Given the description of an element on the screen output the (x, y) to click on. 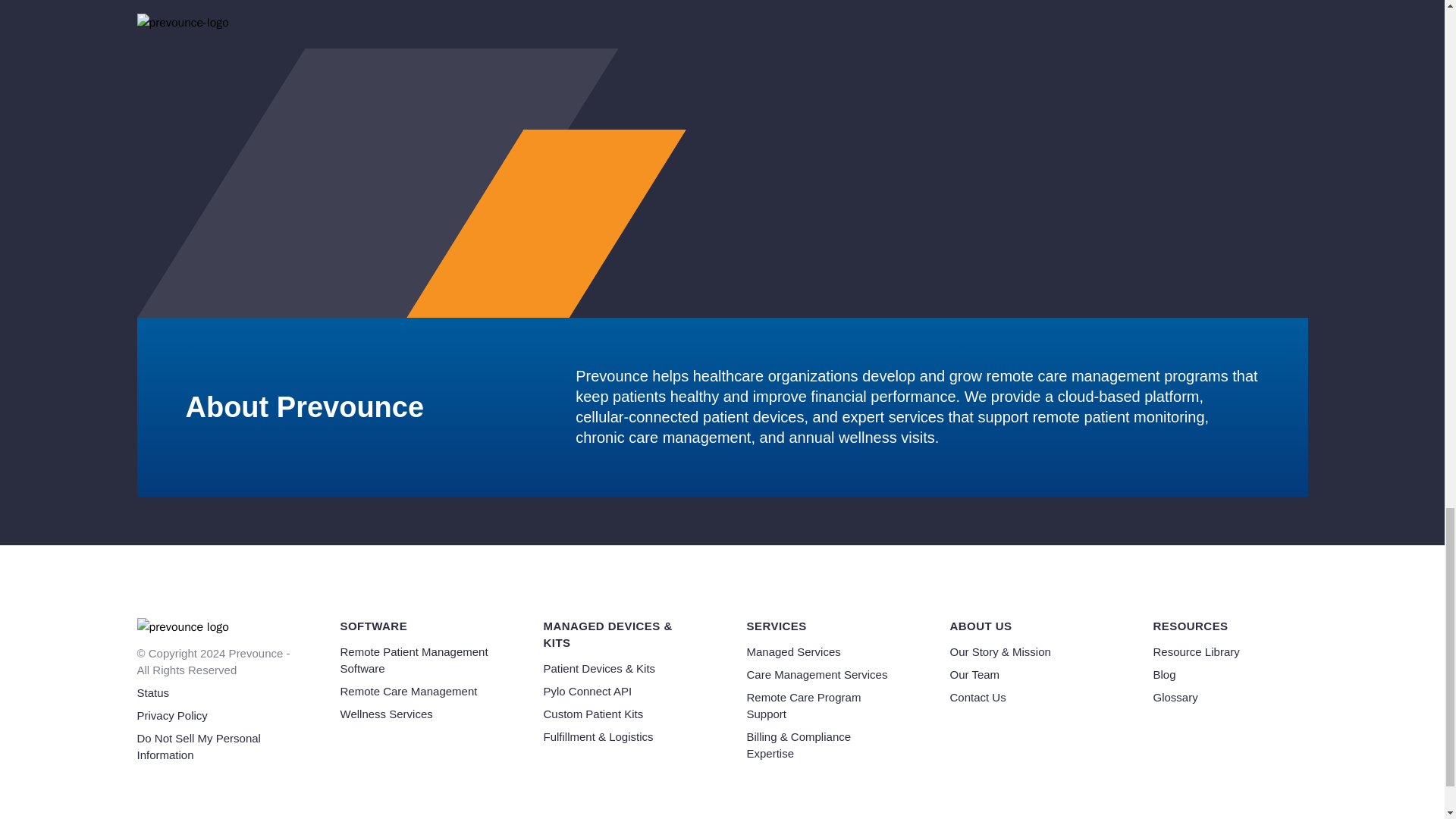
Resource Library (1196, 651)
Glossary (1174, 697)
Remote Care Program Support (802, 705)
Privacy Policy (171, 715)
Do Not Sell My Personal Information (198, 746)
Status (152, 692)
Custom Patient Kits (593, 713)
Managed Services (792, 651)
Pylo Connect API (587, 690)
Care Management Services (815, 674)
